Given the description of an element on the screen output the (x, y) to click on. 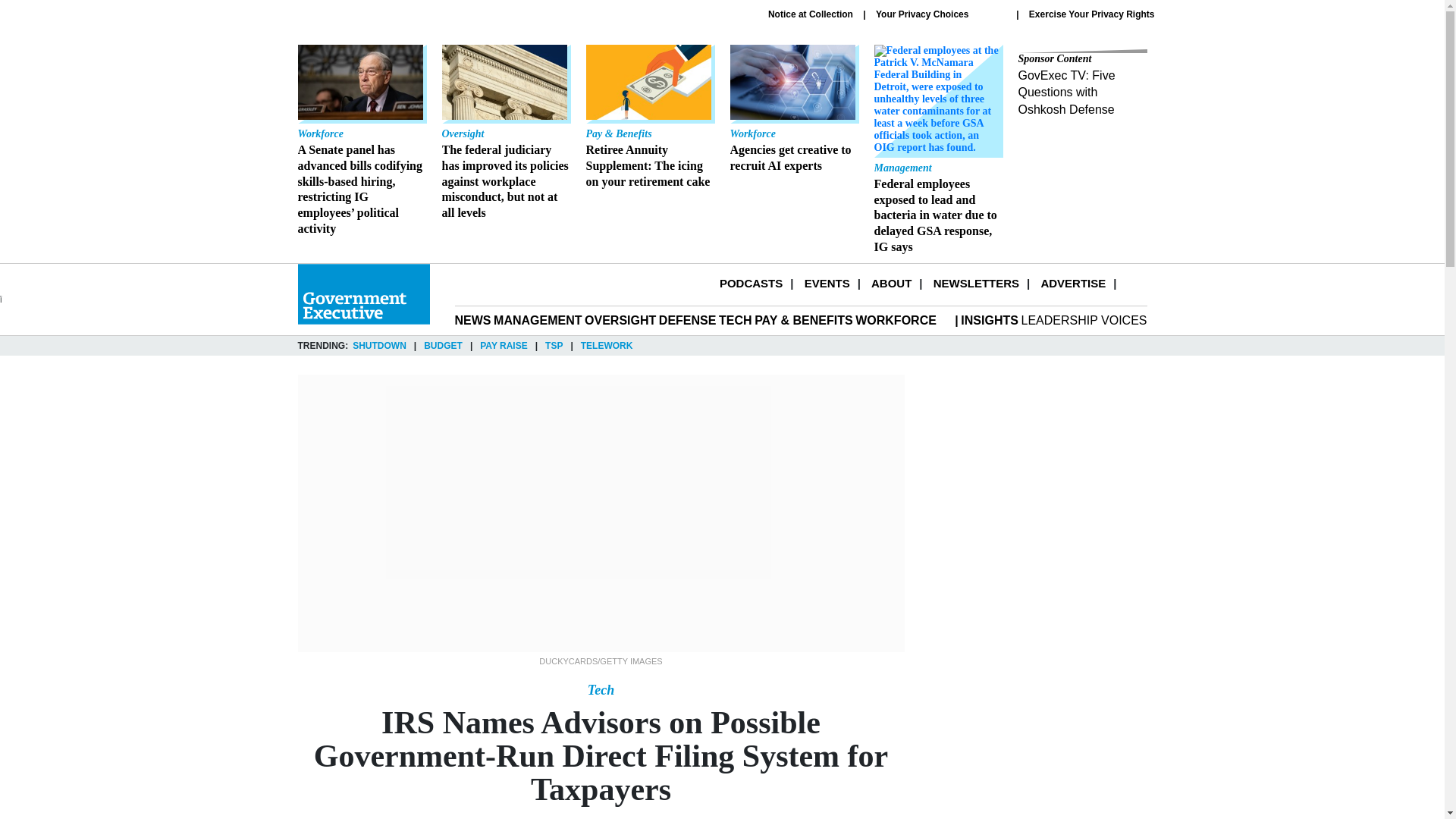
Exercise Your Privacy Rights (1091, 14)
EVENTS (827, 282)
PODCASTS (794, 109)
Your Privacy Choices (751, 282)
ADVERTISE (941, 14)
ABOUT (1073, 282)
Notice at Collection (890, 282)
NEWSLETTERS (810, 14)
